Given the description of an element on the screen output the (x, y) to click on. 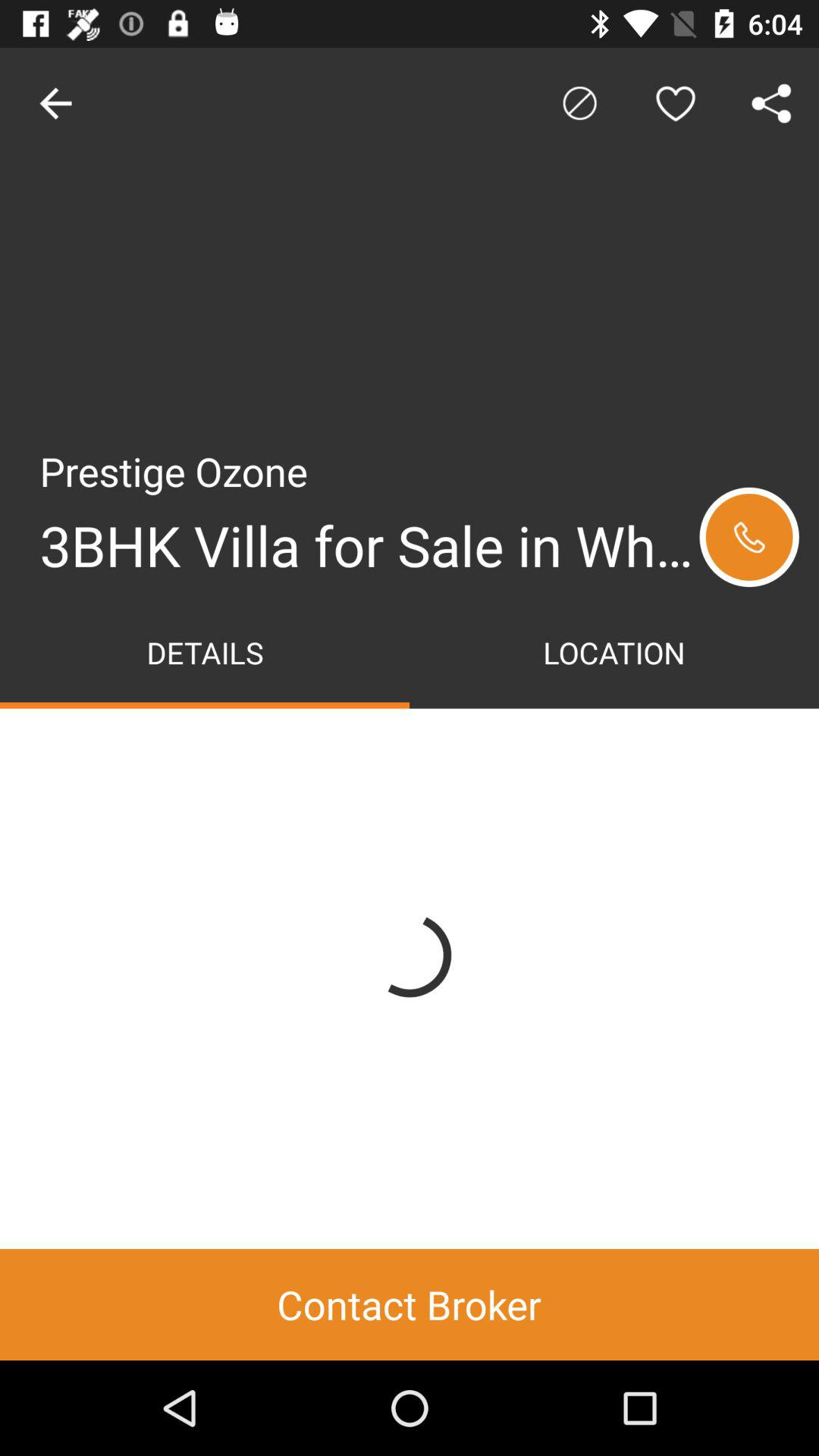
call property manager (749, 536)
